Given the description of an element on the screen output the (x, y) to click on. 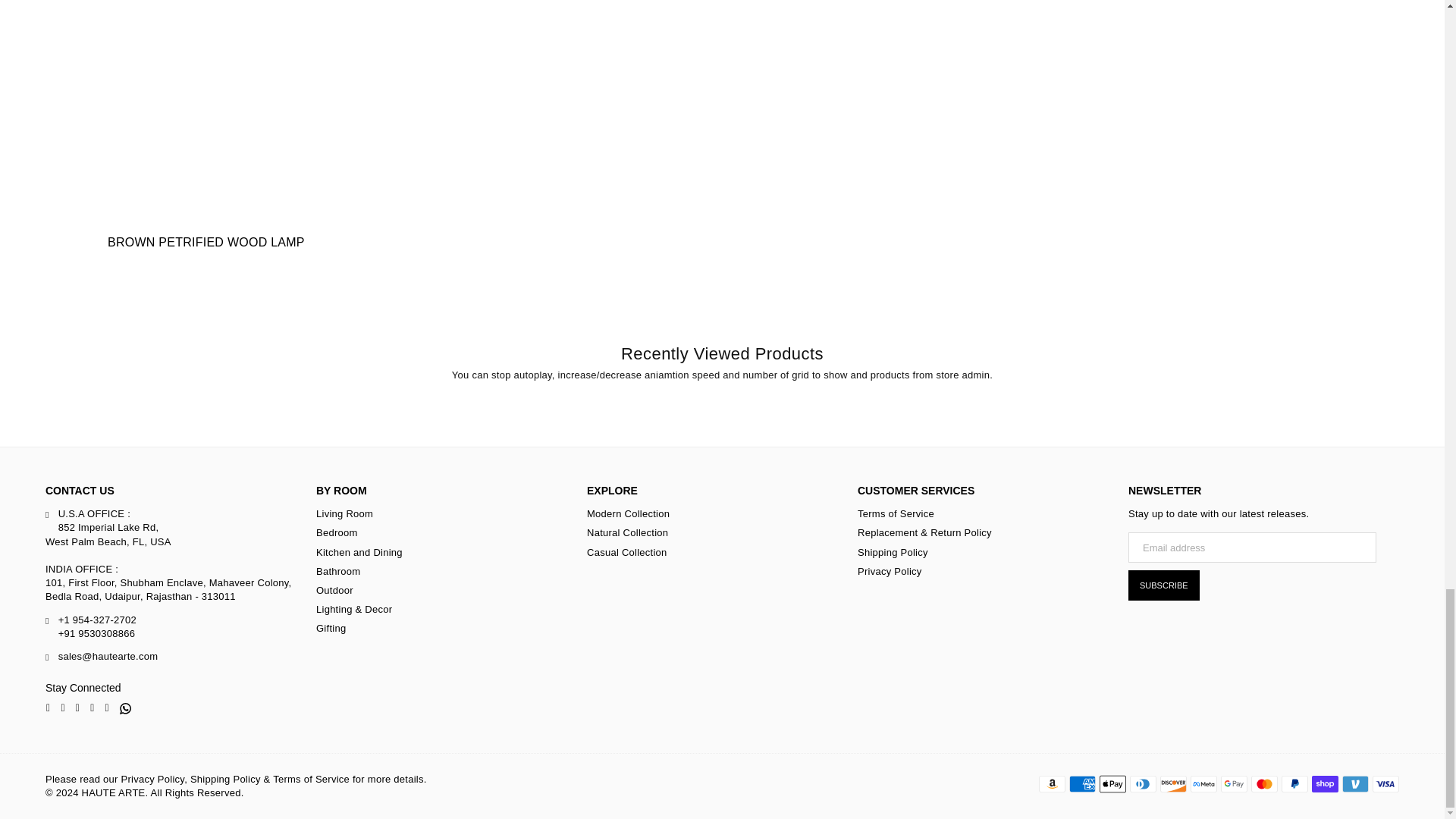
Discover (1173, 783)
Google Pay (1234, 783)
Visa (1386, 783)
Amazon (1052, 783)
Diners Club (1142, 783)
American Express (1082, 783)
Meta Pay (1204, 783)
Venmo (1355, 783)
Apple Pay (1112, 783)
Mastercard (1264, 783)
